Given the description of an element on the screen output the (x, y) to click on. 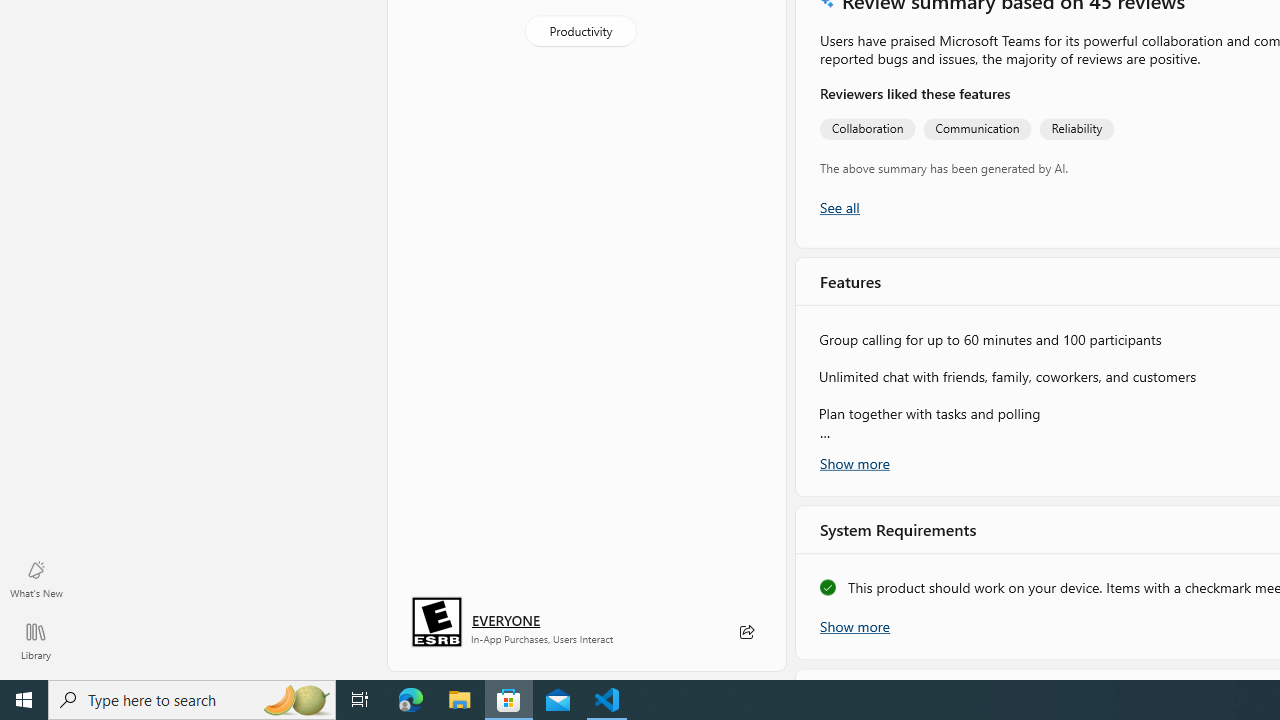
Show more (854, 625)
Productivity (579, 30)
What's New (35, 578)
Share (746, 632)
Age rating: EVERYONE. Click for more information. (506, 619)
Show all ratings and reviews (838, 207)
Library (35, 640)
